Given the description of an element on the screen output the (x, y) to click on. 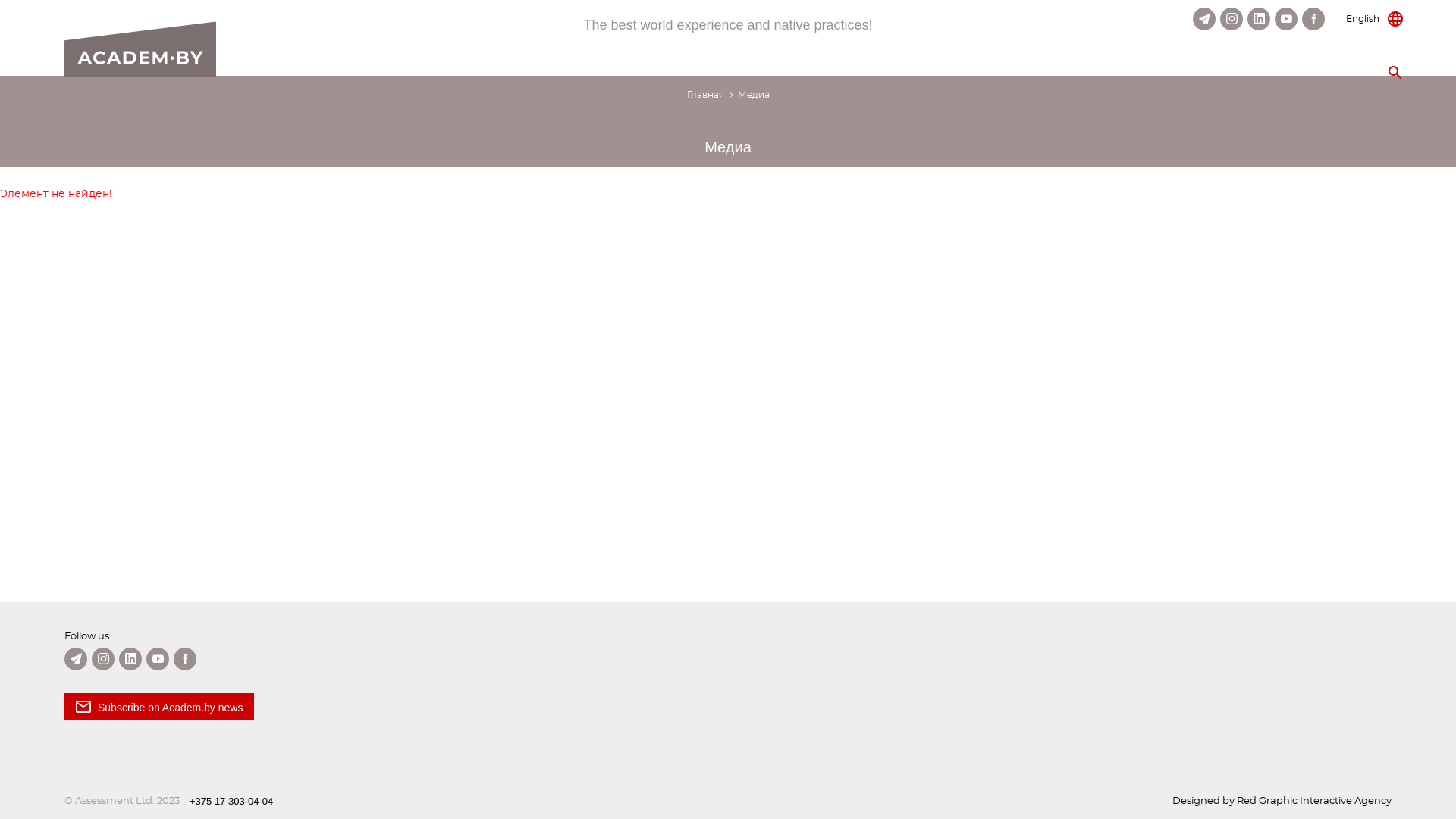
Designed by Red Graphic Interactive Agency Element type: text (1281, 801)
+375 17 303-04-04 Element type: text (231, 801)
Subscribe on Academ.by news Element type: text (159, 706)
